Given the description of an element on the screen output the (x, y) to click on. 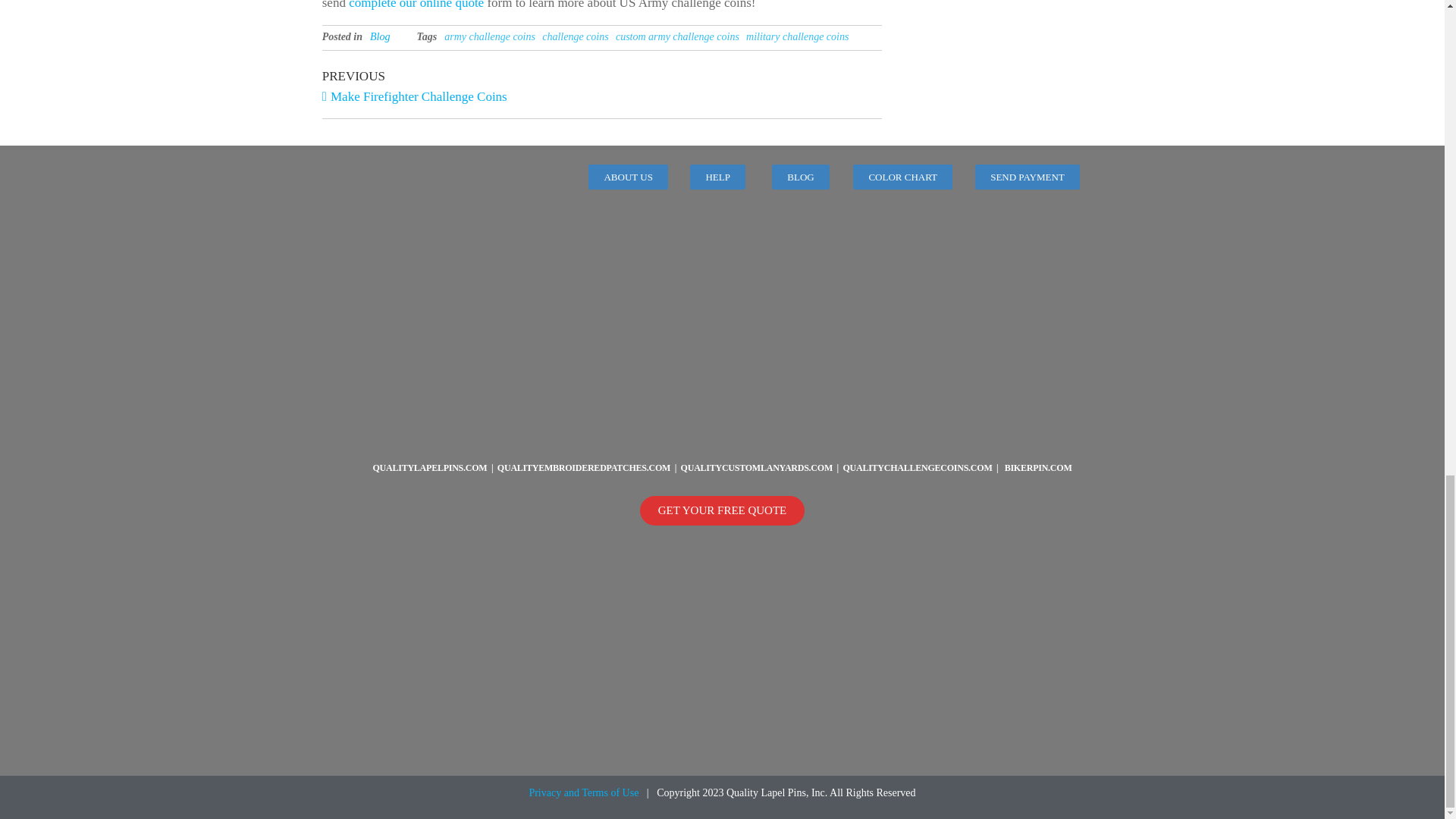
military challenge coins (461, 85)
custom army challenge coins (796, 36)
army challenge coins (677, 36)
complete our online quote (489, 36)
Blog (416, 4)
challenge coins (379, 36)
